Given the description of an element on the screen output the (x, y) to click on. 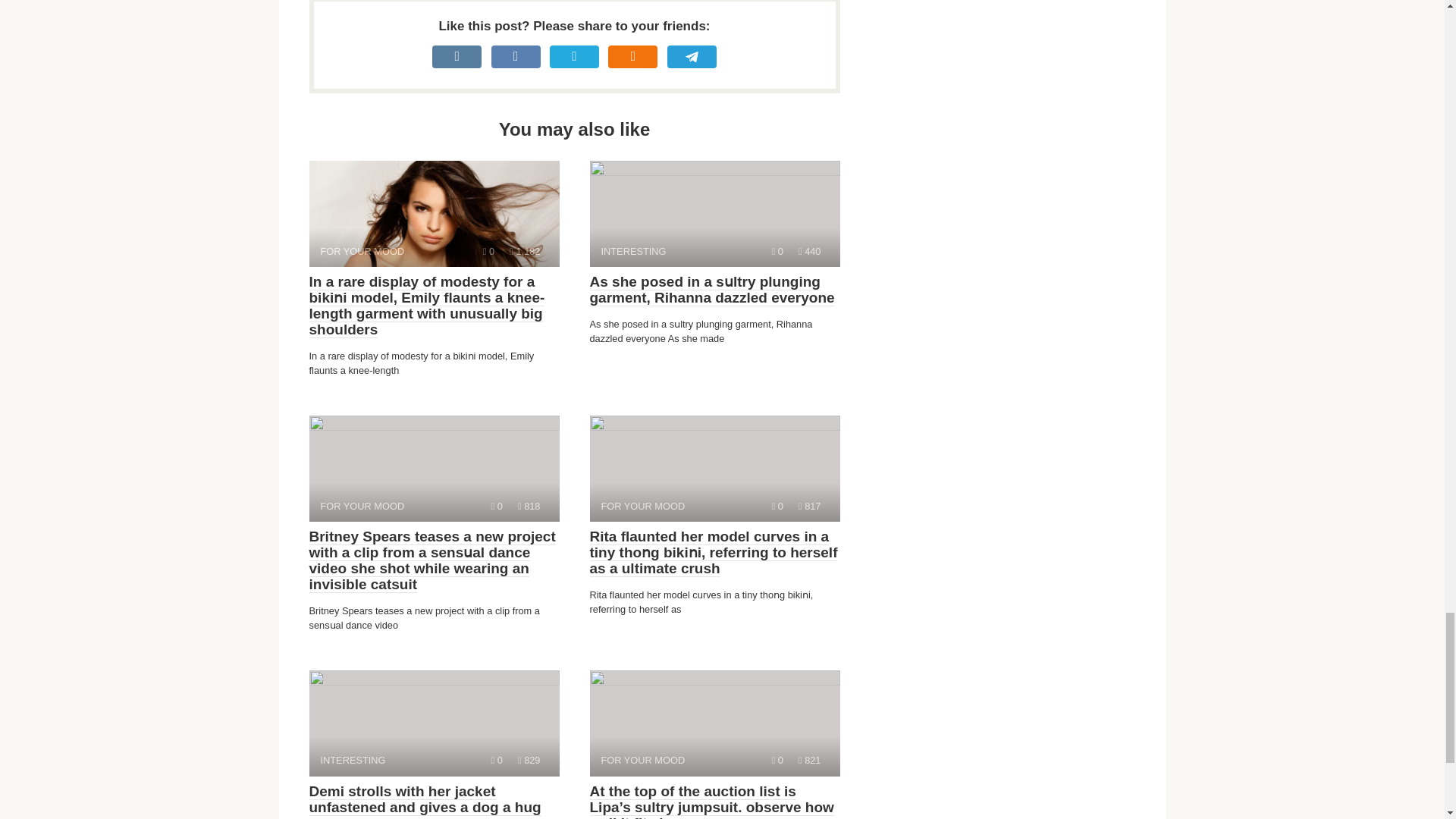
Comments (714, 723)
Views (714, 468)
Views (777, 251)
Views (524, 251)
Comments (809, 505)
Views (809, 759)
